Given the description of an element on the screen output the (x, y) to click on. 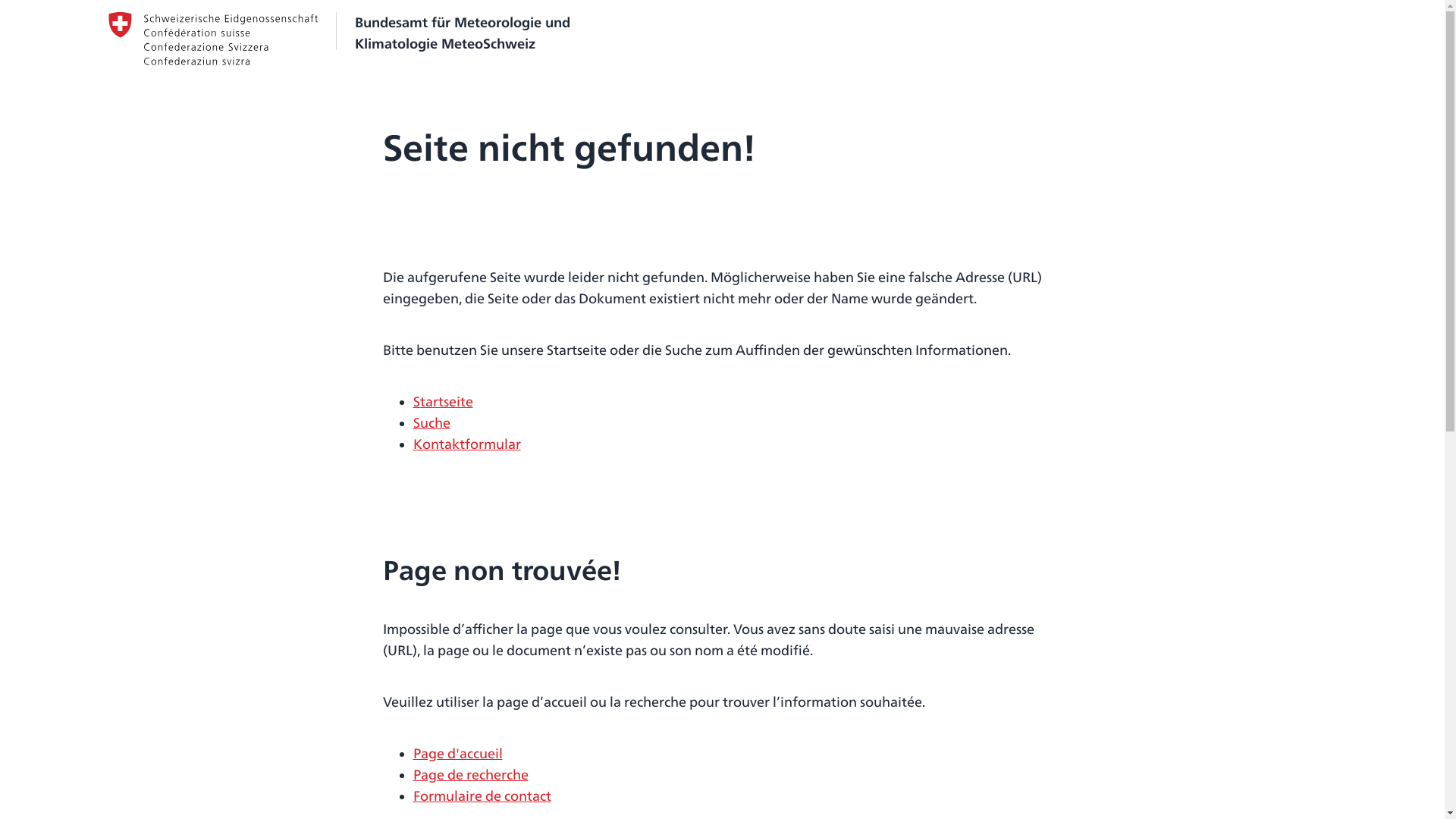
Kontaktformular Element type: text (466, 444)
Startseite Element type: text (442, 401)
Formulaire de contact Element type: text (481, 795)
Suche Element type: text (430, 422)
Page de recherche Element type: text (469, 774)
Page d'accueil Element type: text (457, 753)
